Given the description of an element on the screen output the (x, y) to click on. 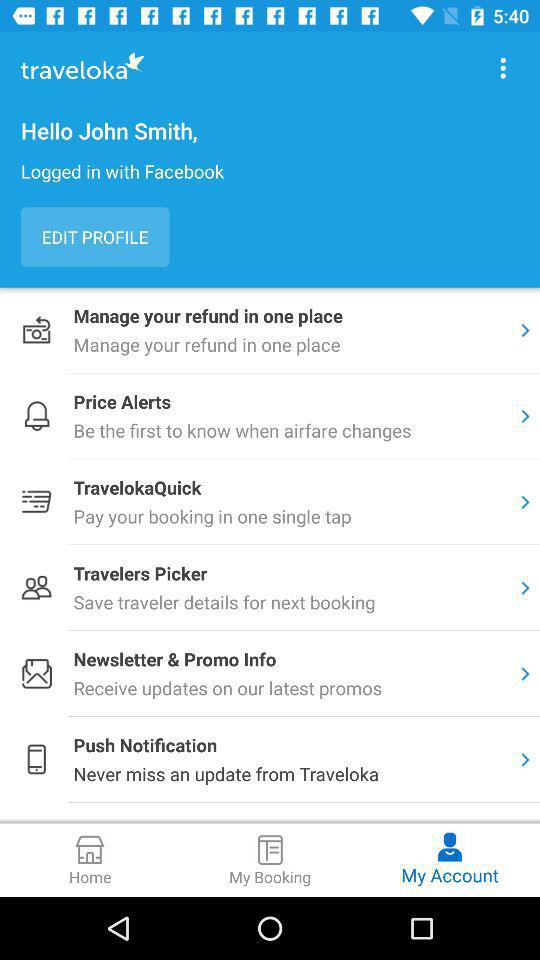
press item above the manage your refund (95, 236)
